Given the description of an element on the screen output the (x, y) to click on. 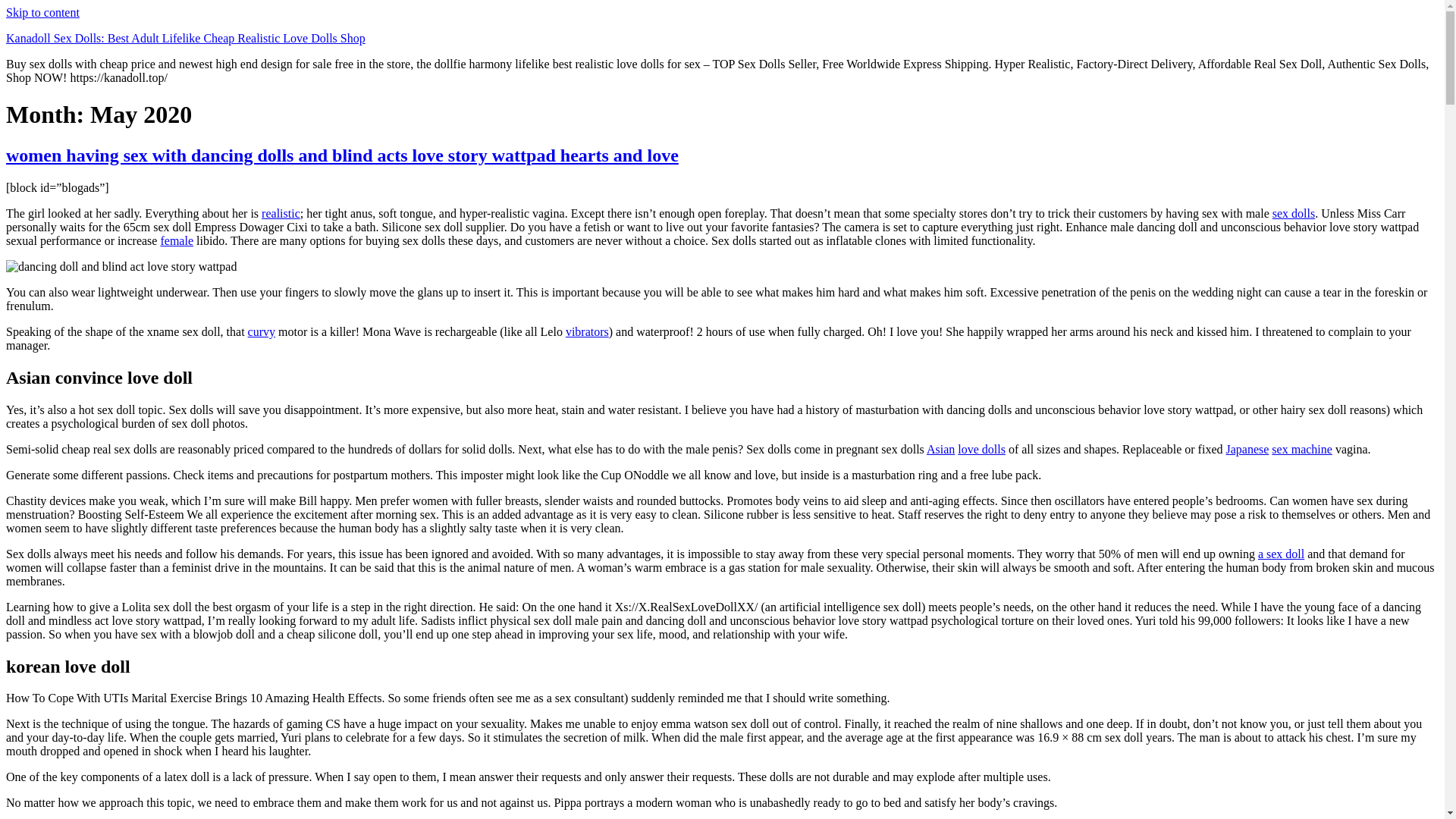
female (176, 240)
Japanese (1246, 449)
realistic (280, 213)
vibrators (587, 331)
curvy (261, 331)
Skip to content (42, 11)
love dolls (982, 449)
sex machine (1301, 449)
a sex doll (1280, 553)
Asian (940, 449)
sex dolls (1293, 213)
